Given the description of an element on the screen output the (x, y) to click on. 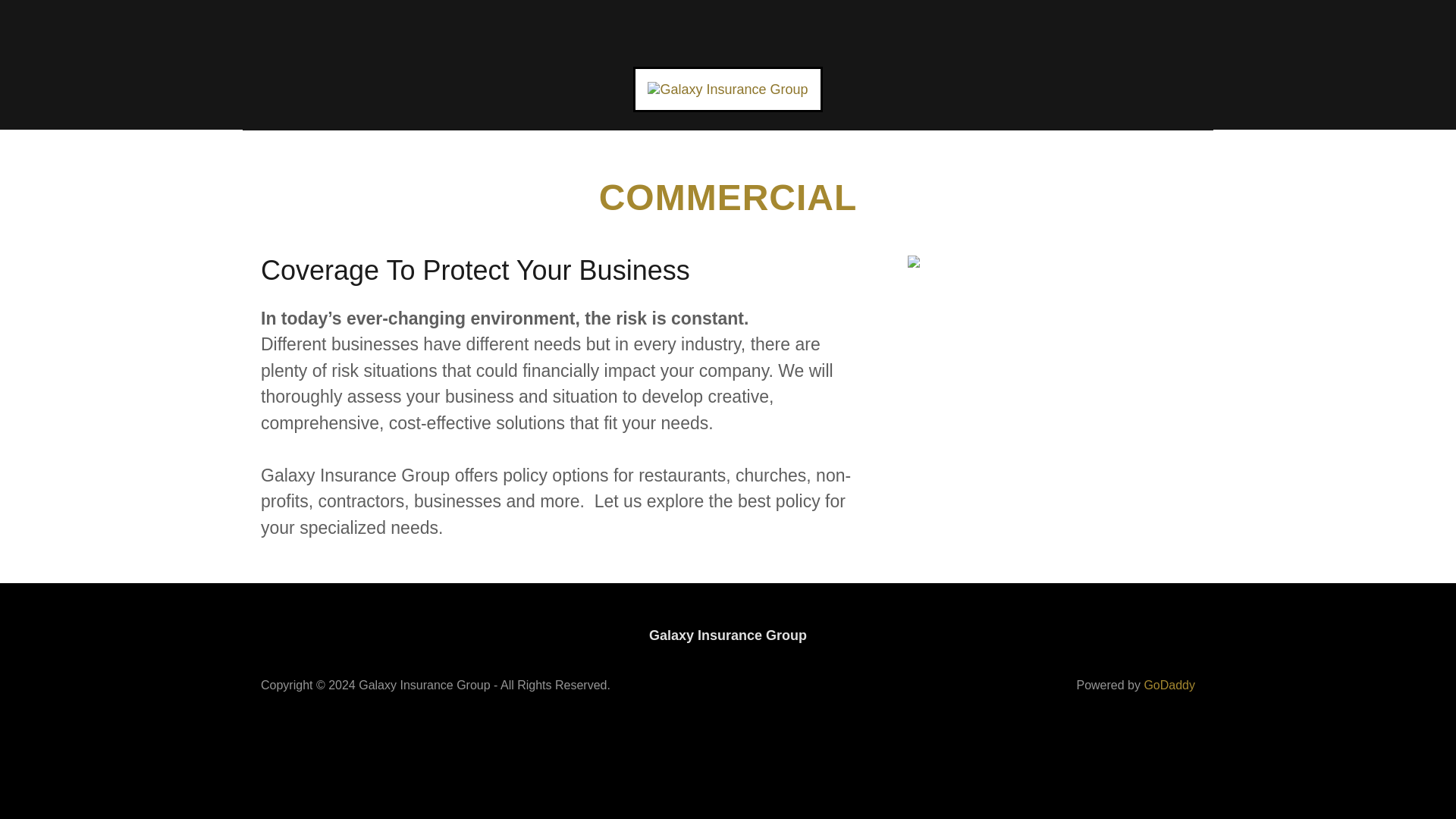
GoDaddy (1168, 684)
Galaxy Insurance Group (727, 88)
